Given the description of an element on the screen output the (x, y) to click on. 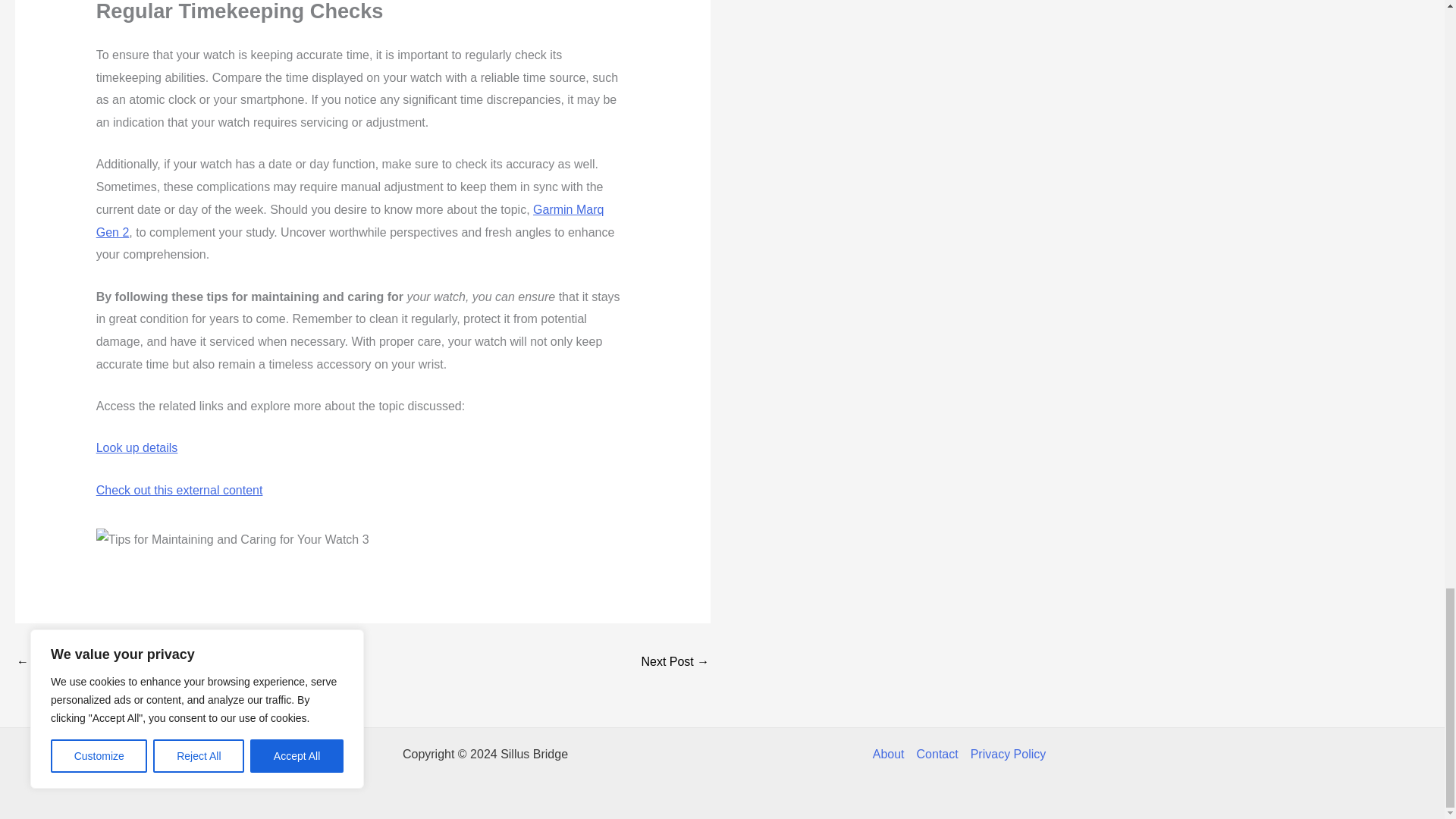
The Challenges and Rewards of Long-Distance Relationships (674, 663)
Look up details (136, 447)
The Benefits of Partnering with eXp Spain (61, 663)
Check out this external content (179, 490)
Garmin Marq Gen 2 (350, 221)
